Given the description of an element on the screen output the (x, y) to click on. 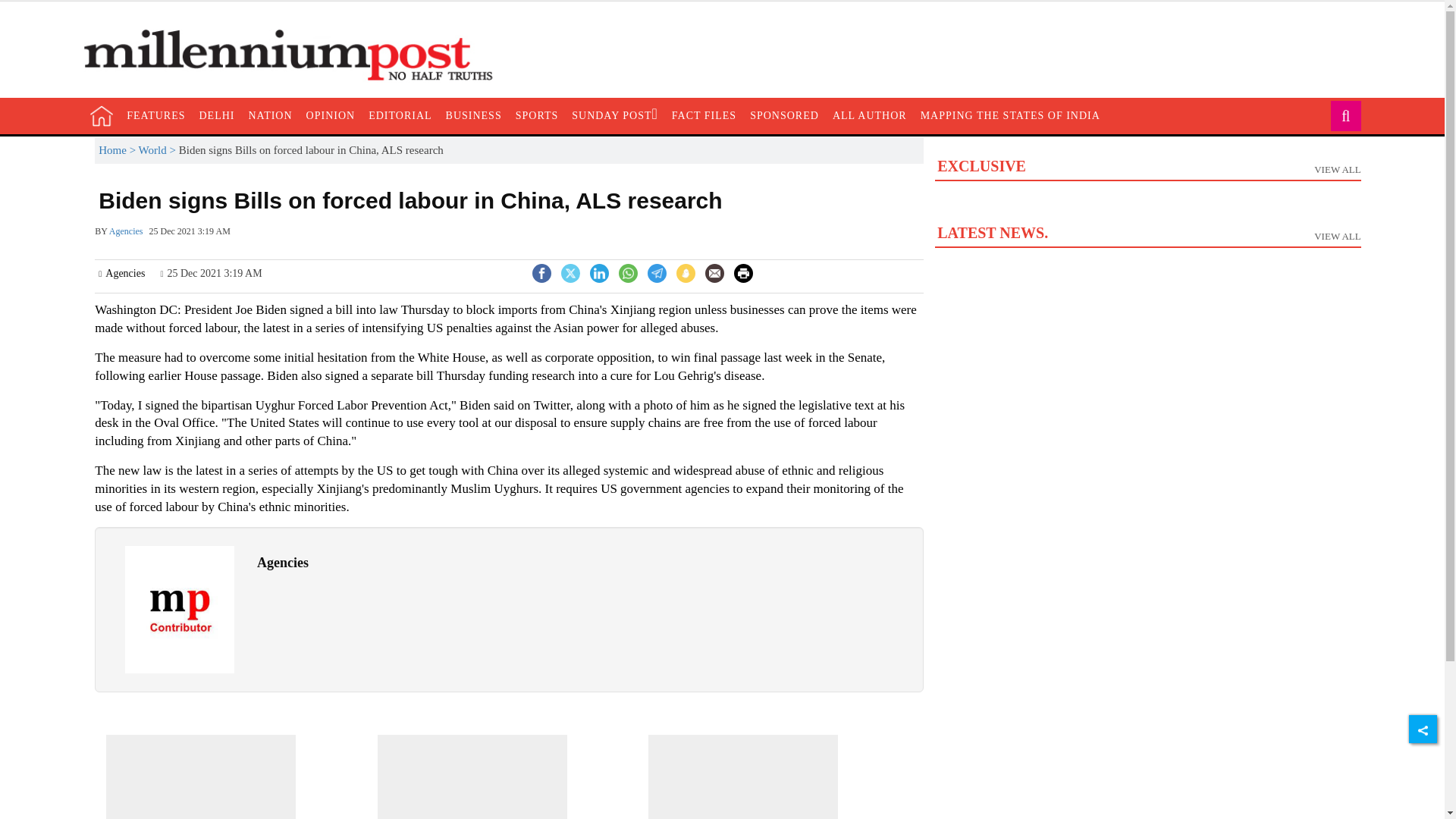
MAPPING THE STATES OF INDIA (1010, 115)
Twitter (1146, 204)
FACT FILES (569, 271)
Email (703, 115)
home (713, 272)
SPONSORED (101, 115)
LinkedIn (783, 115)
print (598, 271)
Facebook (743, 273)
